Given the description of an element on the screen output the (x, y) to click on. 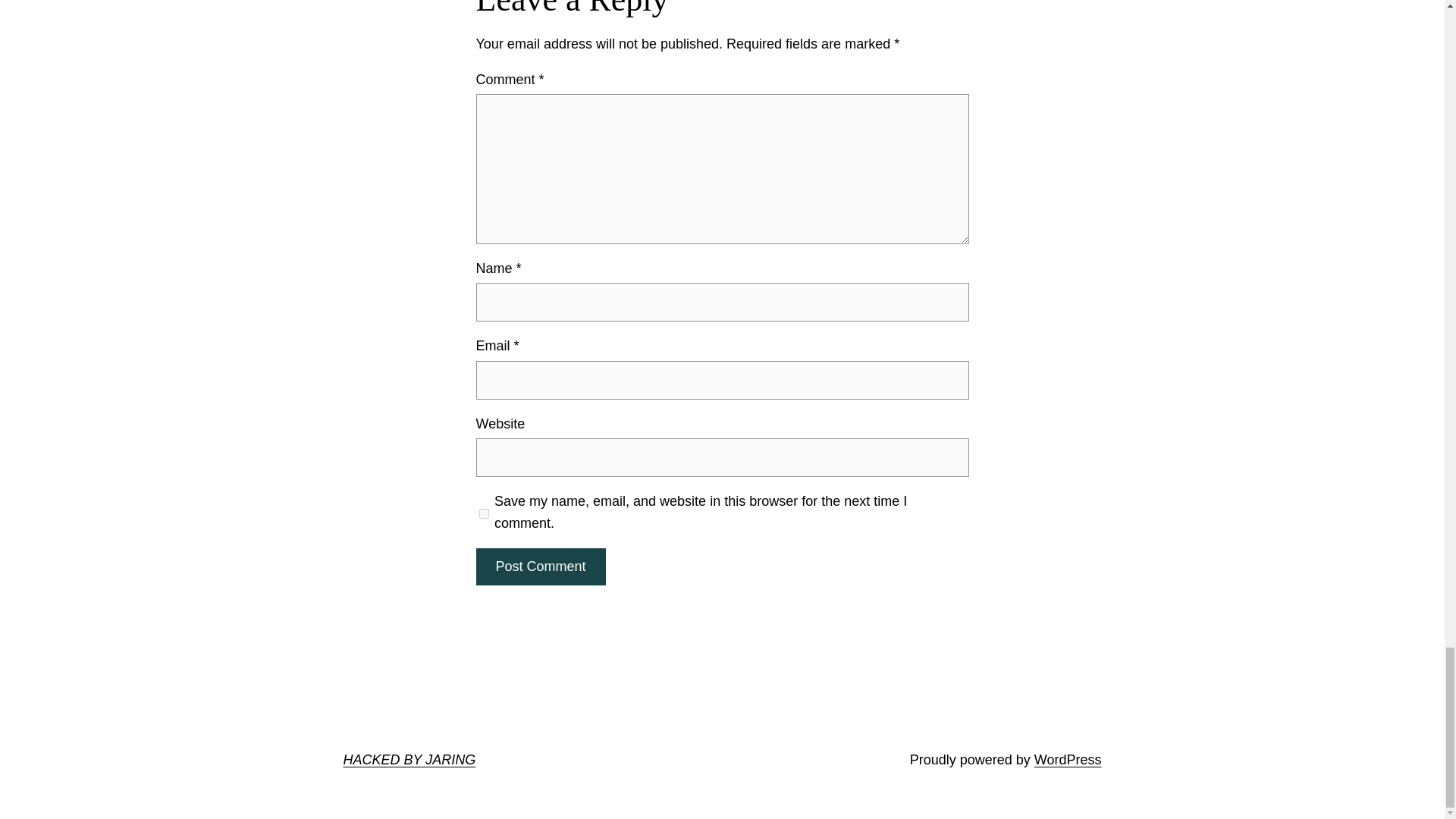
Post Comment (540, 566)
WordPress (1067, 759)
yes (484, 513)
Post Comment (540, 566)
HACKED BY JARING (409, 759)
